Given the description of an element on the screen output the (x, y) to click on. 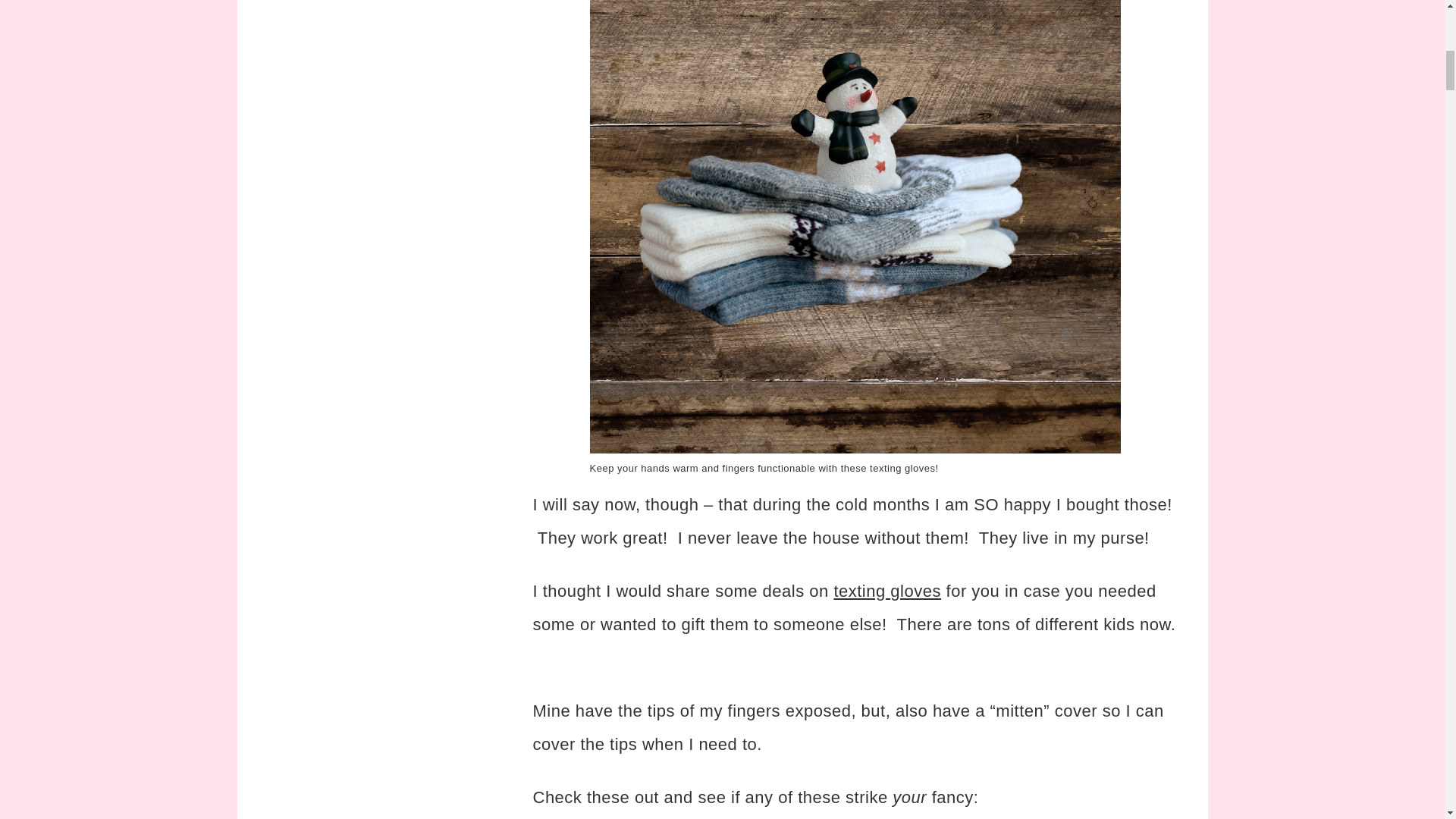
texting gloves (886, 589)
